Given the description of an element on the screen output the (x, y) to click on. 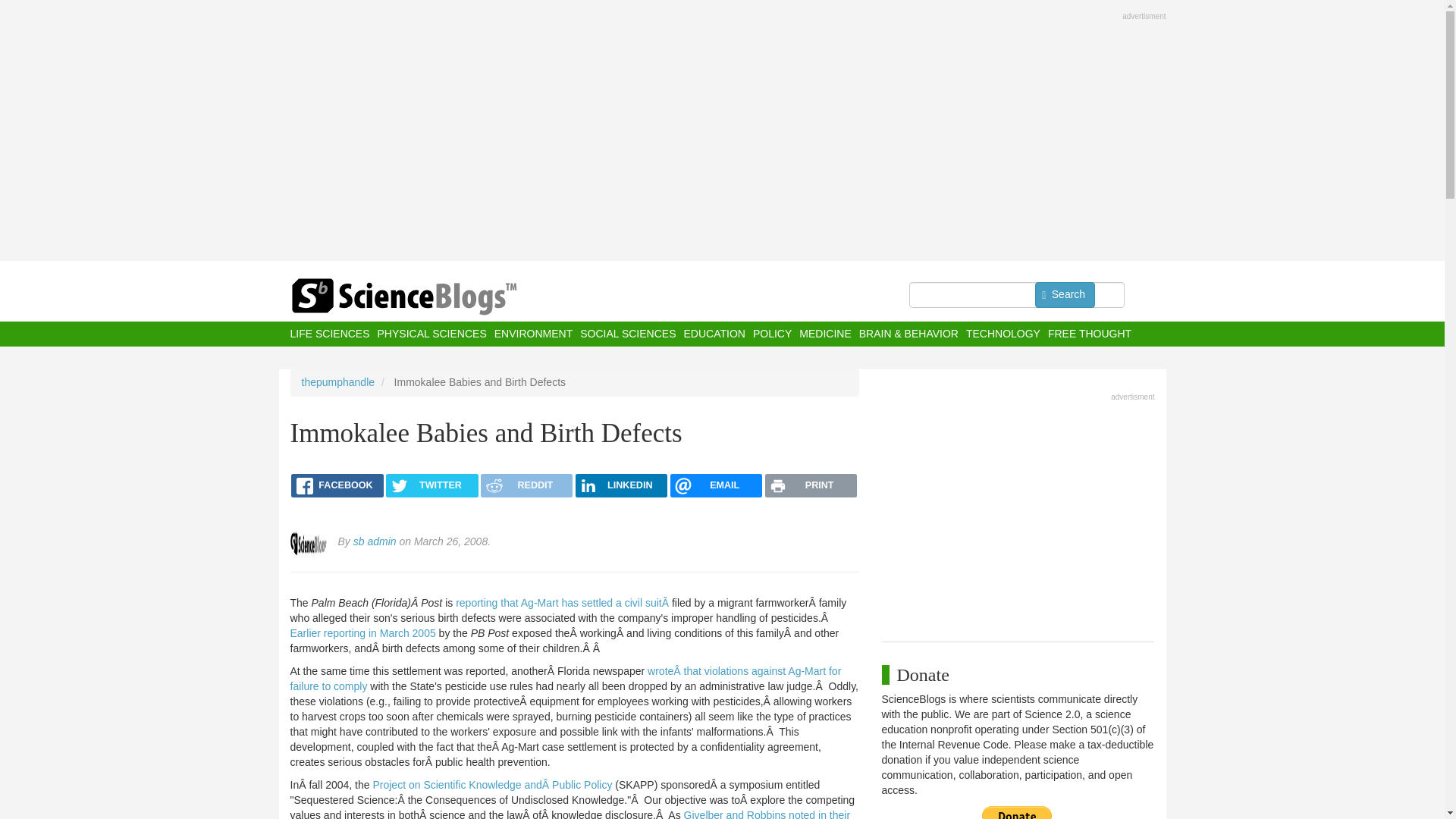
Earlier reporting in March 2005 (363, 633)
Home (433, 296)
View user profile. (374, 541)
EMAIL (715, 485)
FREE THOUGHT (1089, 334)
thepumphandle (338, 381)
ENVIRONMENT (533, 334)
PHYSICAL SCIENCES (431, 334)
SOCIAL SCIENCES (627, 334)
sb admin (374, 541)
TWITTER (431, 485)
REDDIT (526, 485)
POLICY (772, 334)
Givelber and Robbins noted in their paper (569, 814)
